Given the description of an element on the screen output the (x, y) to click on. 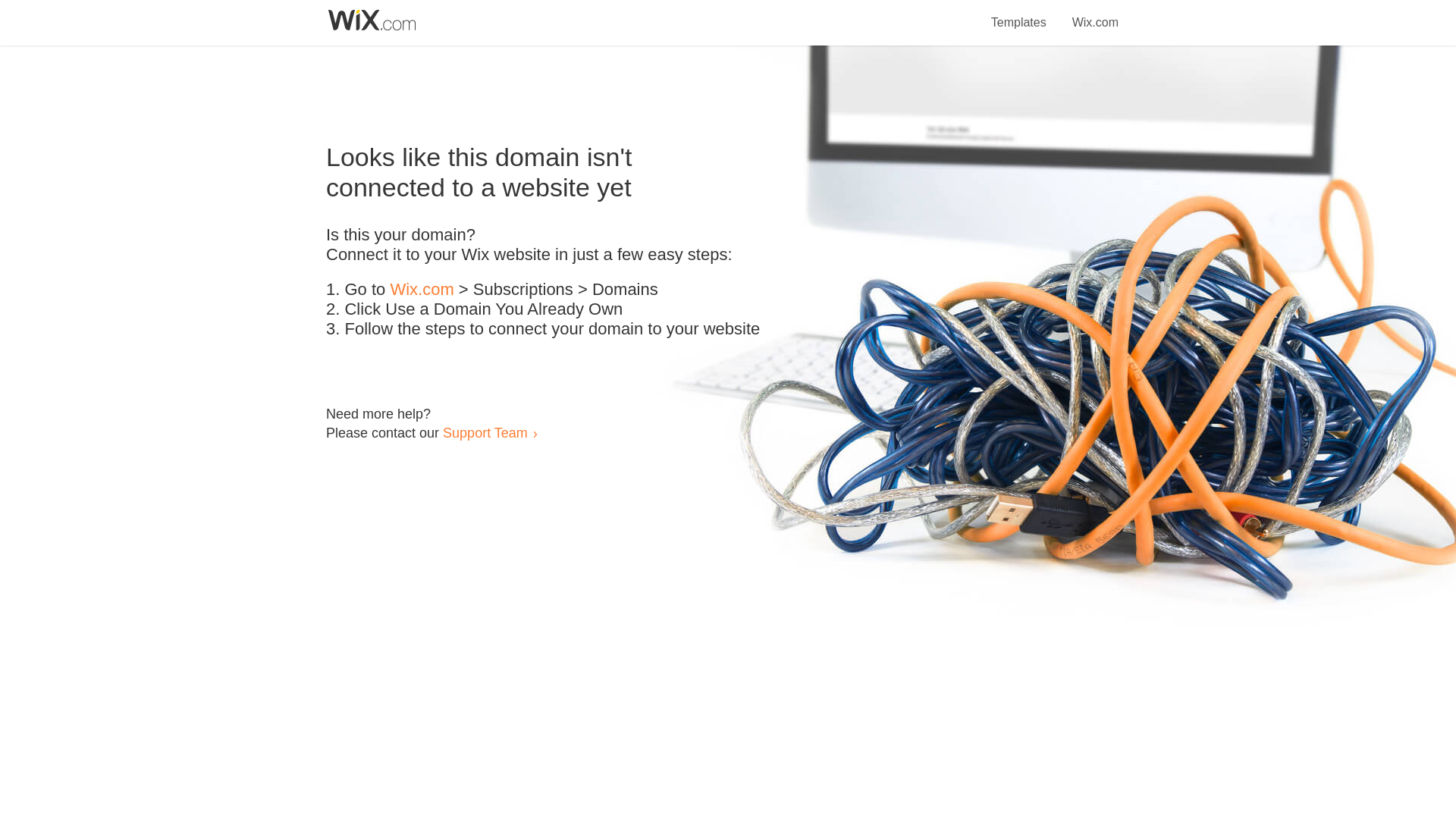
Wix.com (421, 289)
Support Team (484, 432)
Templates (1018, 14)
Wix.com (1095, 14)
